Given the description of an element on the screen output the (x, y) to click on. 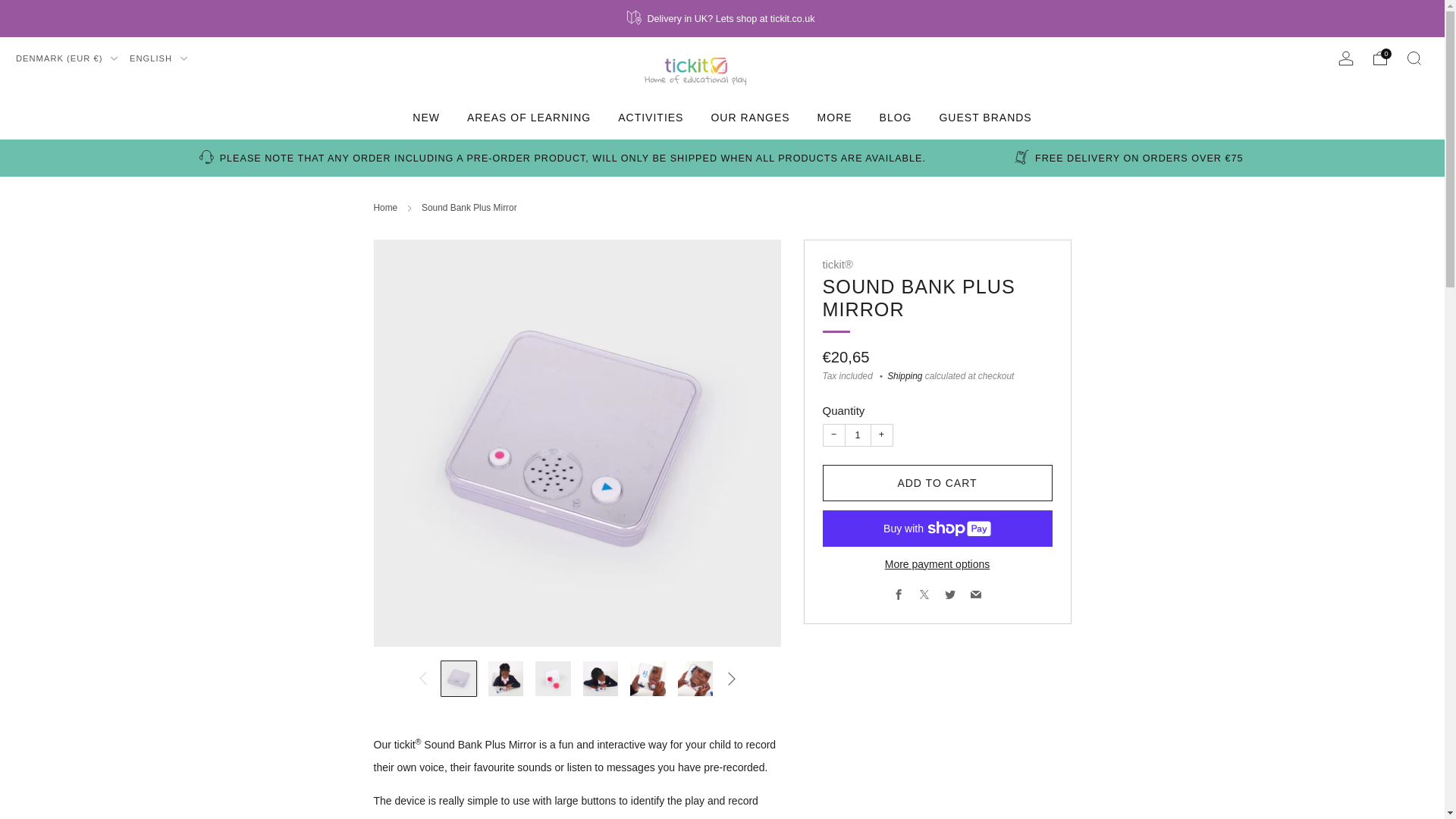
Delivery in UK? Lets shop at tickit.co.uk (720, 18)
OUR RANGES (749, 117)
Home (384, 207)
NEW (425, 117)
AREAS OF LEARNING (529, 117)
ACTIVITIES (649, 117)
1 (857, 435)
